Given the description of an element on the screen output the (x, y) to click on. 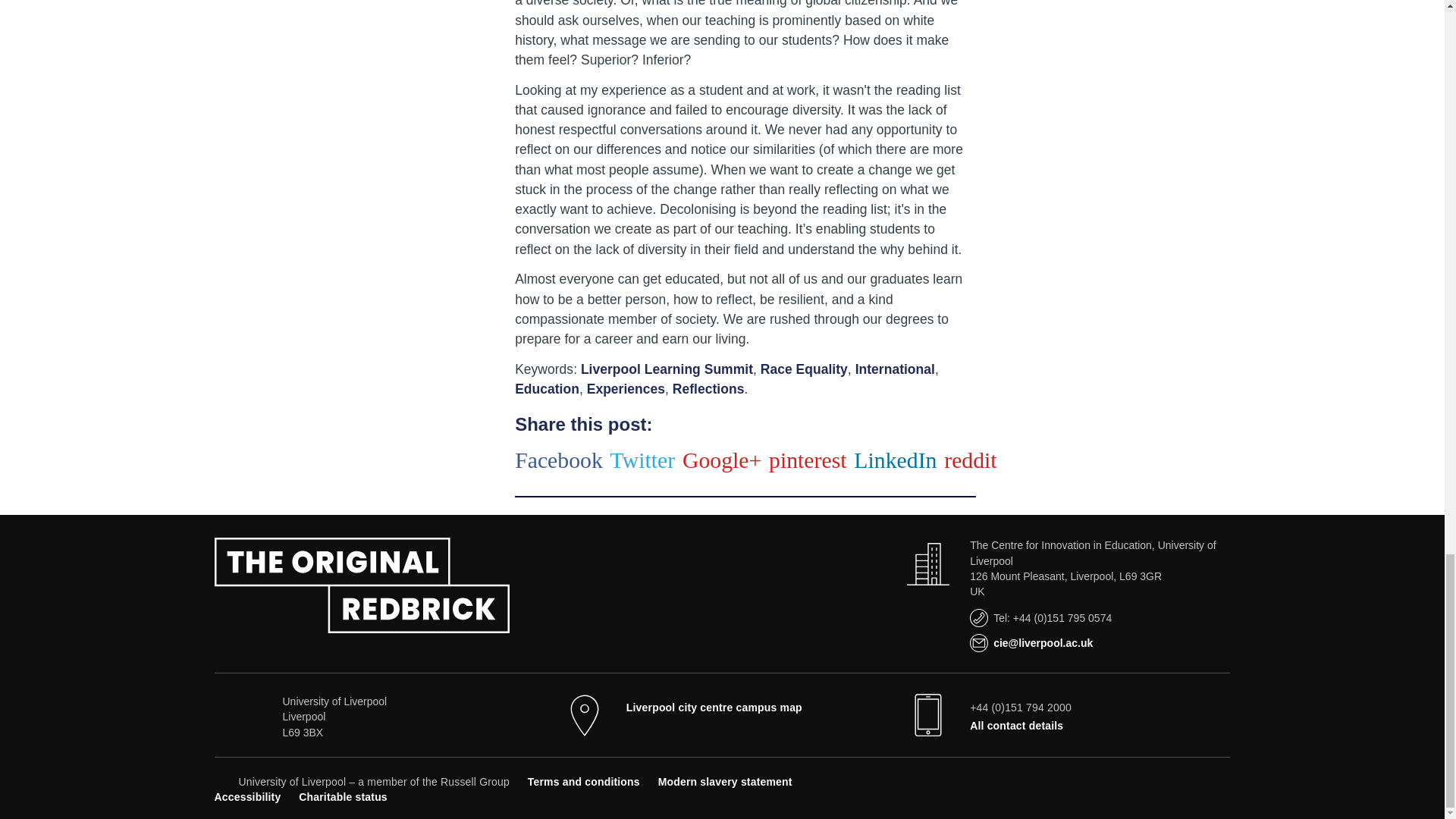
youtube (1170, 779)
Terms and Conditions (583, 781)
Contact us (1015, 725)
Maps (714, 707)
Modern slavery statement (725, 781)
facebook (1121, 779)
twitter (1146, 779)
linkedin (1220, 779)
instagram (1196, 779)
